Given the description of an element on the screen output the (x, y) to click on. 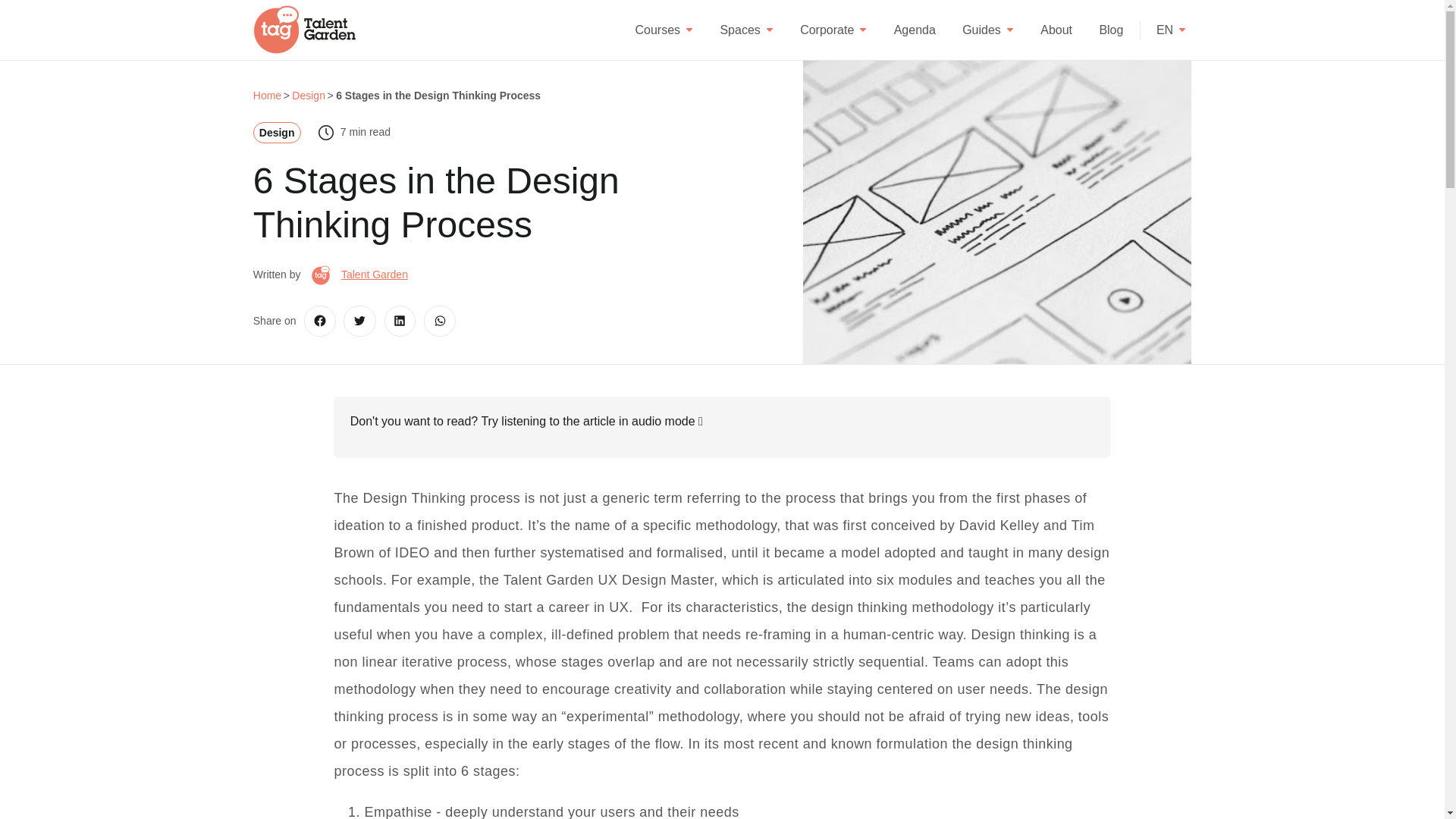
Courses (663, 29)
Corporate (833, 29)
Spaces (745, 29)
About (1056, 29)
Agenda (914, 29)
Guides (987, 29)
